Given the description of an element on the screen output the (x, y) to click on. 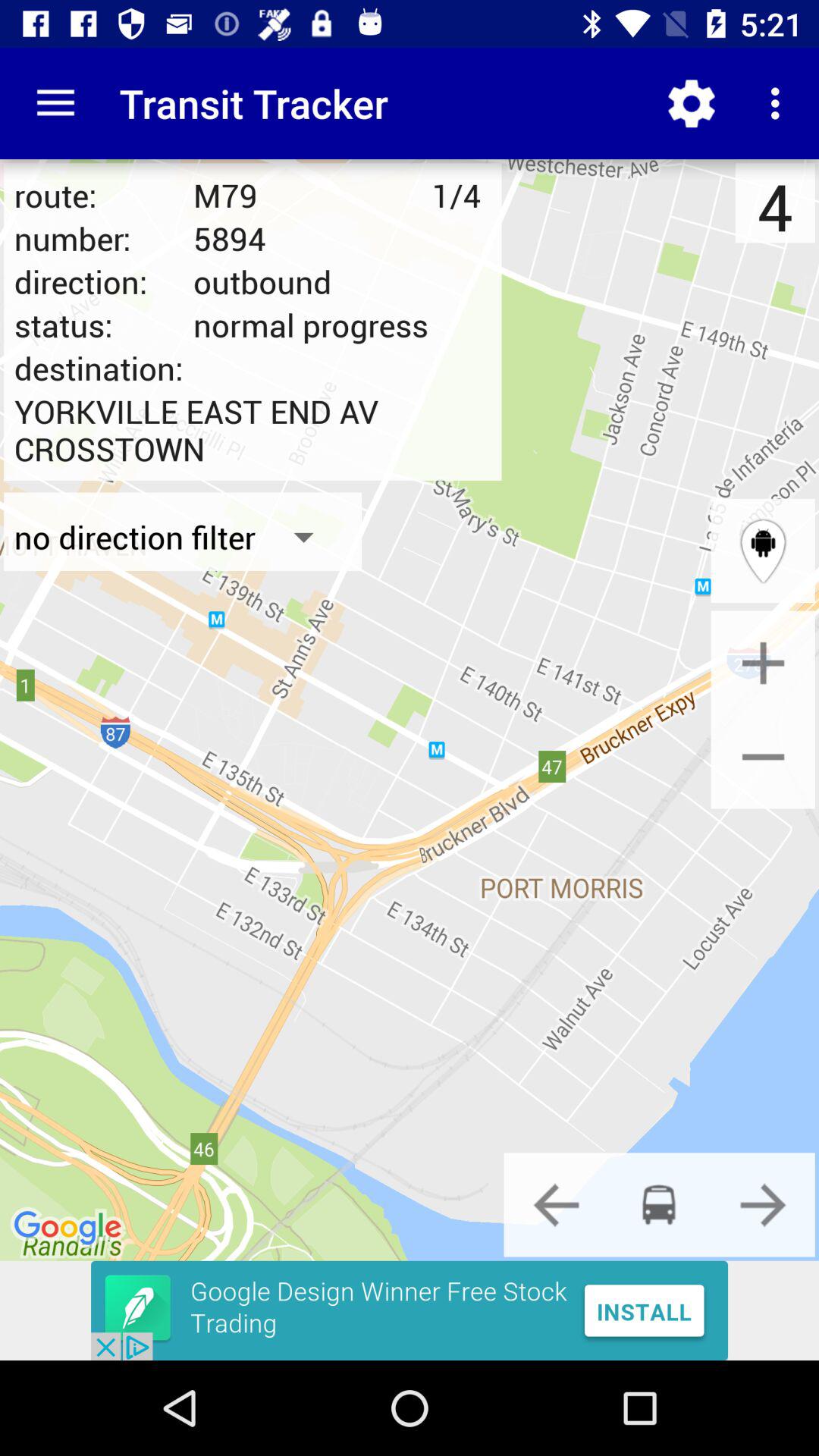
zoom out option (762, 756)
